Given the description of an element on the screen output the (x, y) to click on. 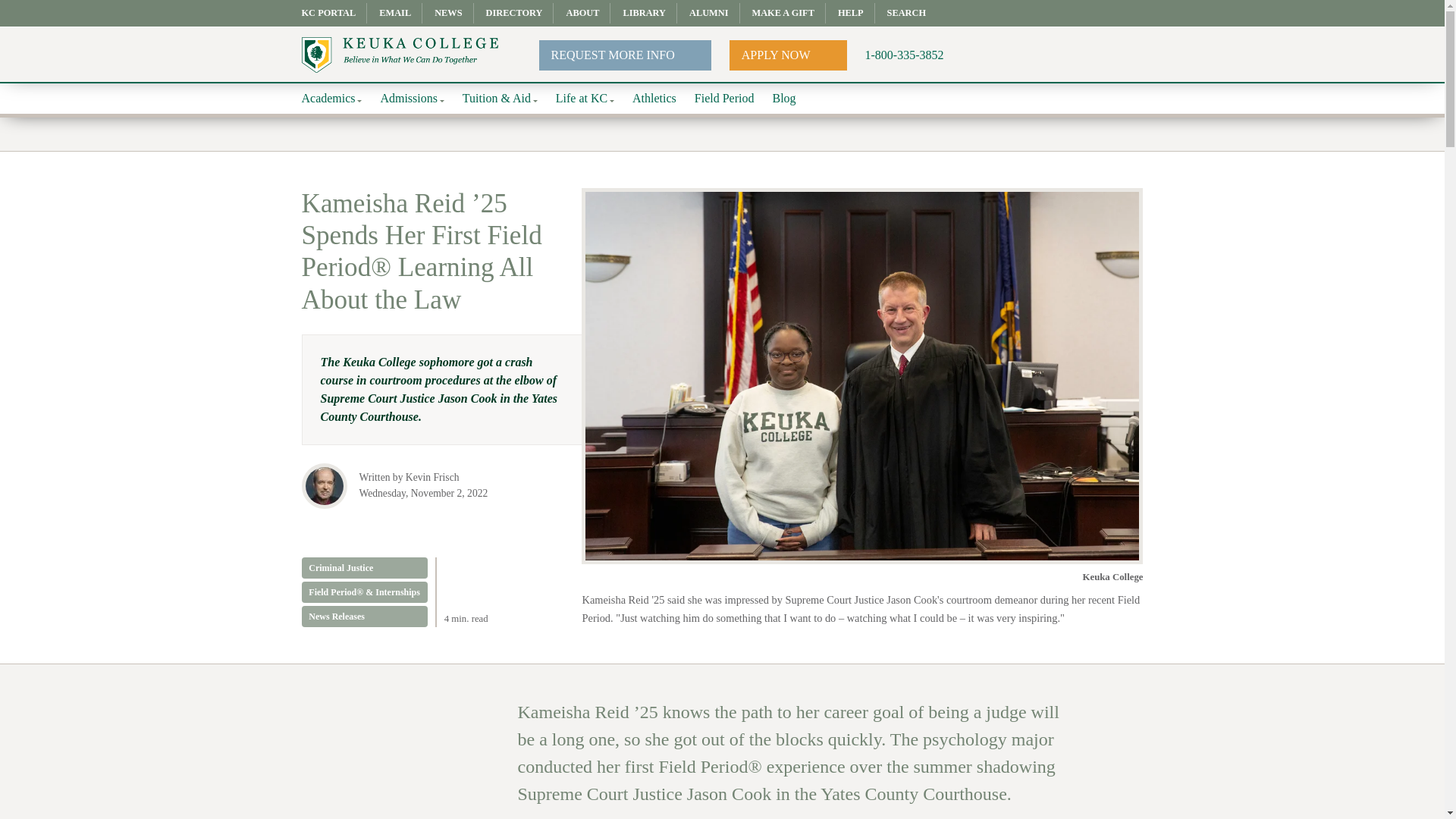
1-800-335-3852 (903, 54)
Admissions (412, 98)
APPLY NOW (788, 54)
REQUEST MORE INFO (624, 54)
Academics (331, 98)
Life at KC (585, 98)
